Given the description of an element on the screen output the (x, y) to click on. 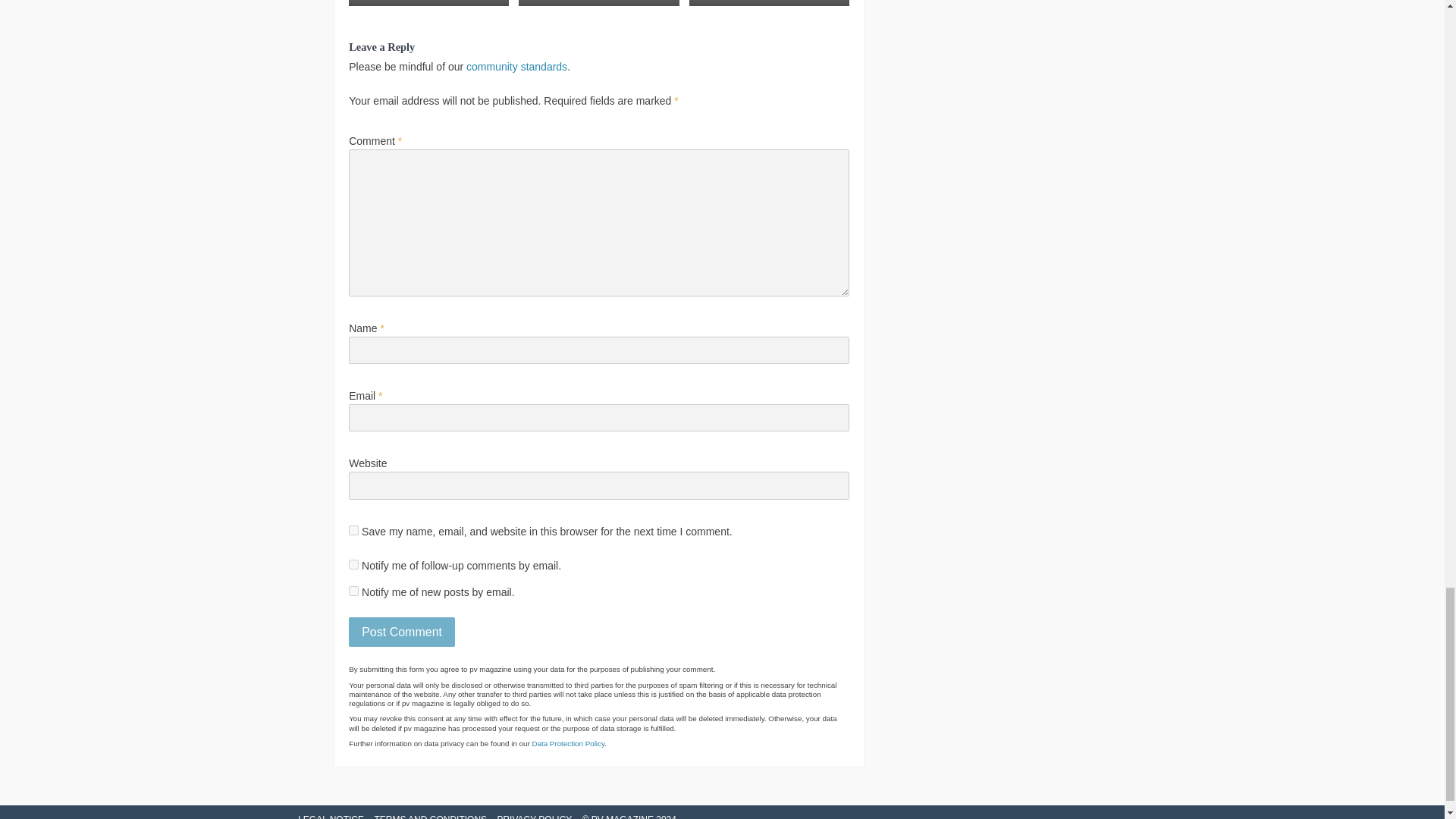
subscribe (353, 564)
yes (353, 530)
subscribe (353, 591)
Post Comment (401, 632)
